Given the description of an element on the screen output the (x, y) to click on. 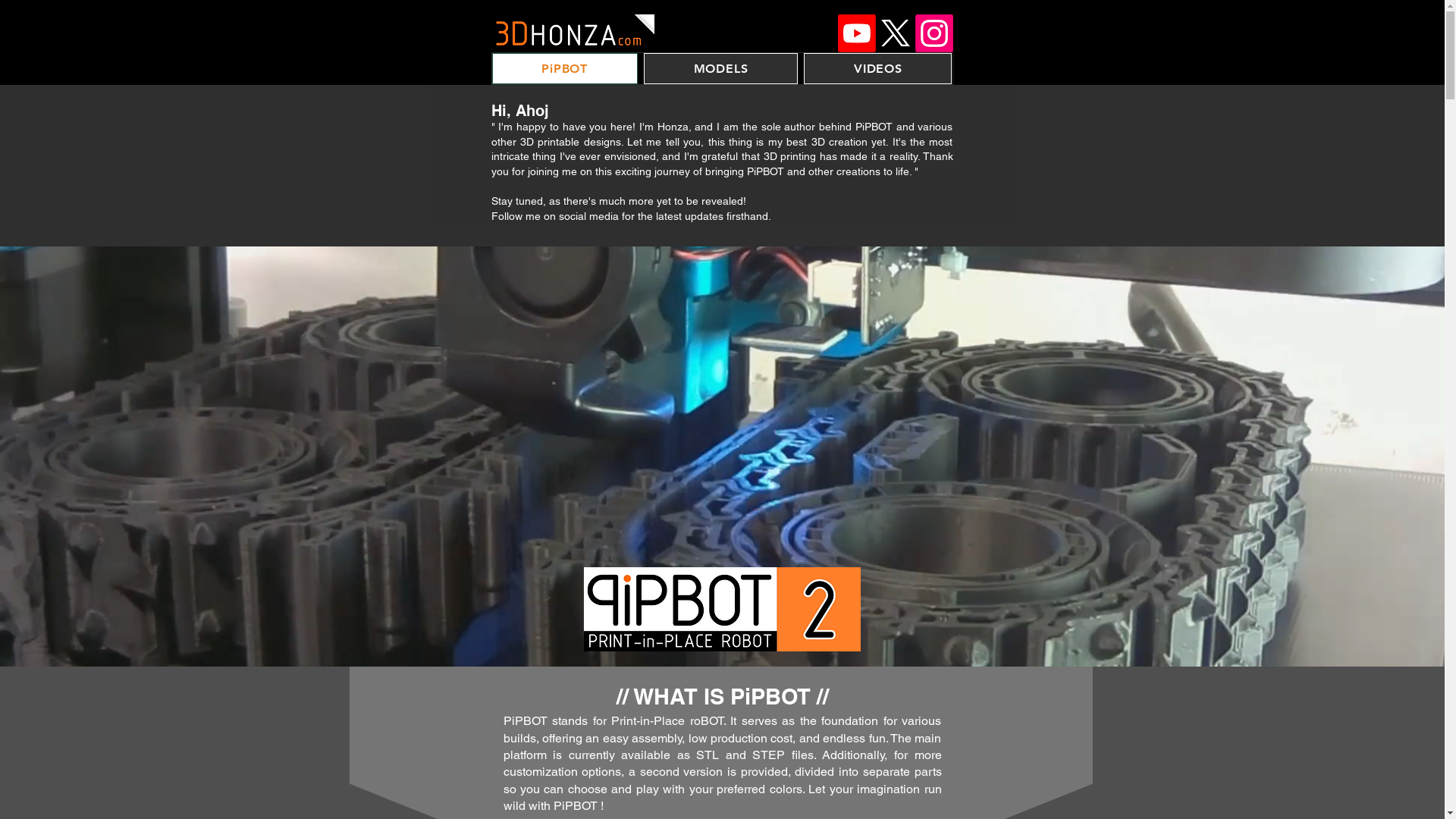
MODELS Element type: text (720, 68)
PiPBOT Element type: text (564, 68)
VIDEOS Element type: text (877, 68)
